Given the description of an element on the screen output the (x, y) to click on. 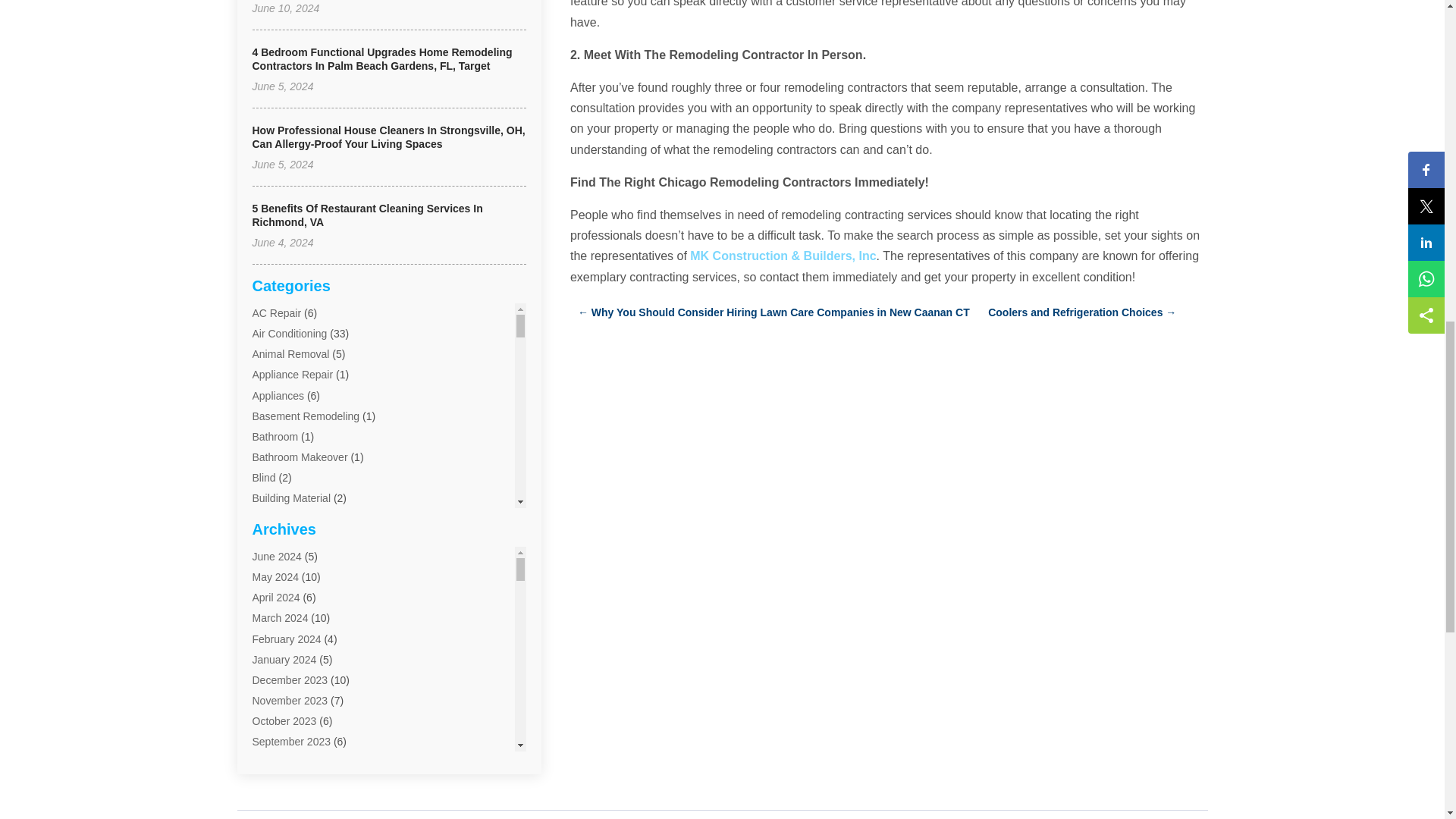
Concrete Contractor (299, 663)
Blind (263, 477)
Air Conditioning (288, 333)
Appliances (277, 395)
Construction And Maintenance (323, 684)
Carpet And Floor Cleaners (314, 560)
Carpet Cleaning Service (308, 580)
Closet Services (287, 643)
Bathroom Makeover (299, 457)
5 Benefits Of Restaurant Cleaning Services In Richmond, VA (366, 215)
Bathroom (274, 436)
Cleaning (272, 601)
AC Repair (276, 313)
